Given the description of an element on the screen output the (x, y) to click on. 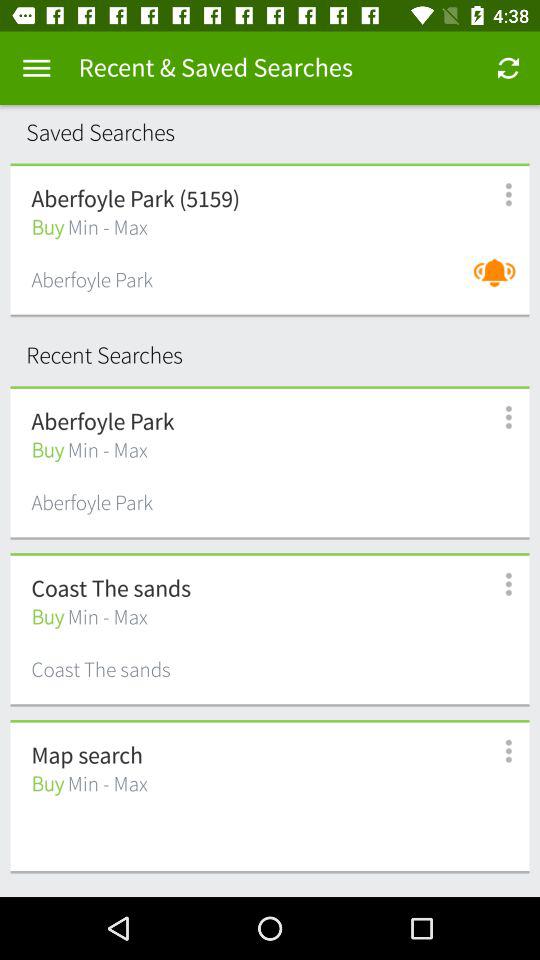
menu options (497, 194)
